Given the description of an element on the screen output the (x, y) to click on. 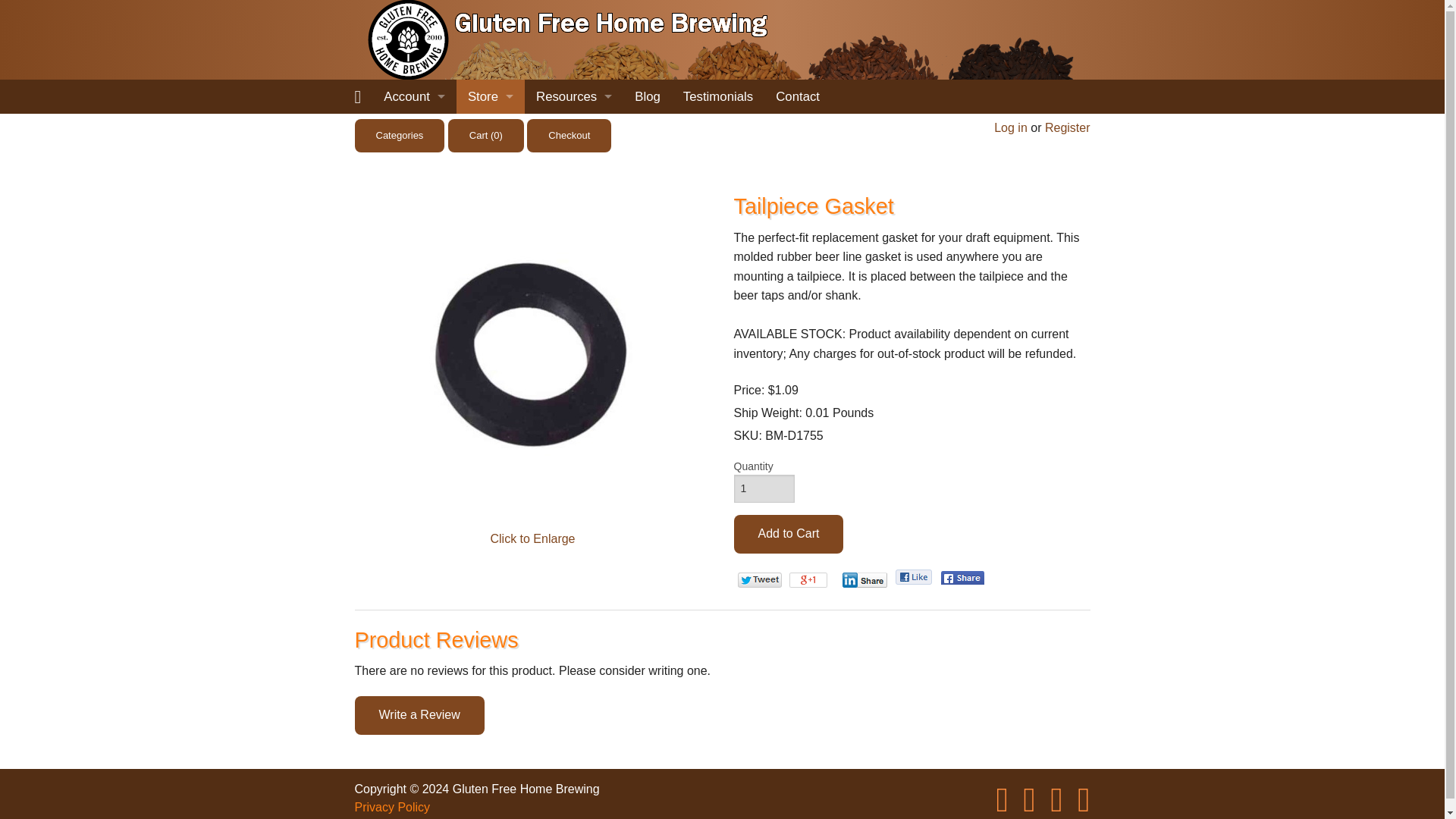
Beer Calculator (573, 233)
Privacy Policy (490, 369)
Shipping and Returns (490, 301)
Conditions of Use (490, 335)
Check Out (490, 198)
Add to Cart (788, 534)
Recipes (573, 130)
Store (490, 96)
Featured Products (490, 130)
Brewing Terms (573, 267)
